Given the description of an element on the screen output the (x, y) to click on. 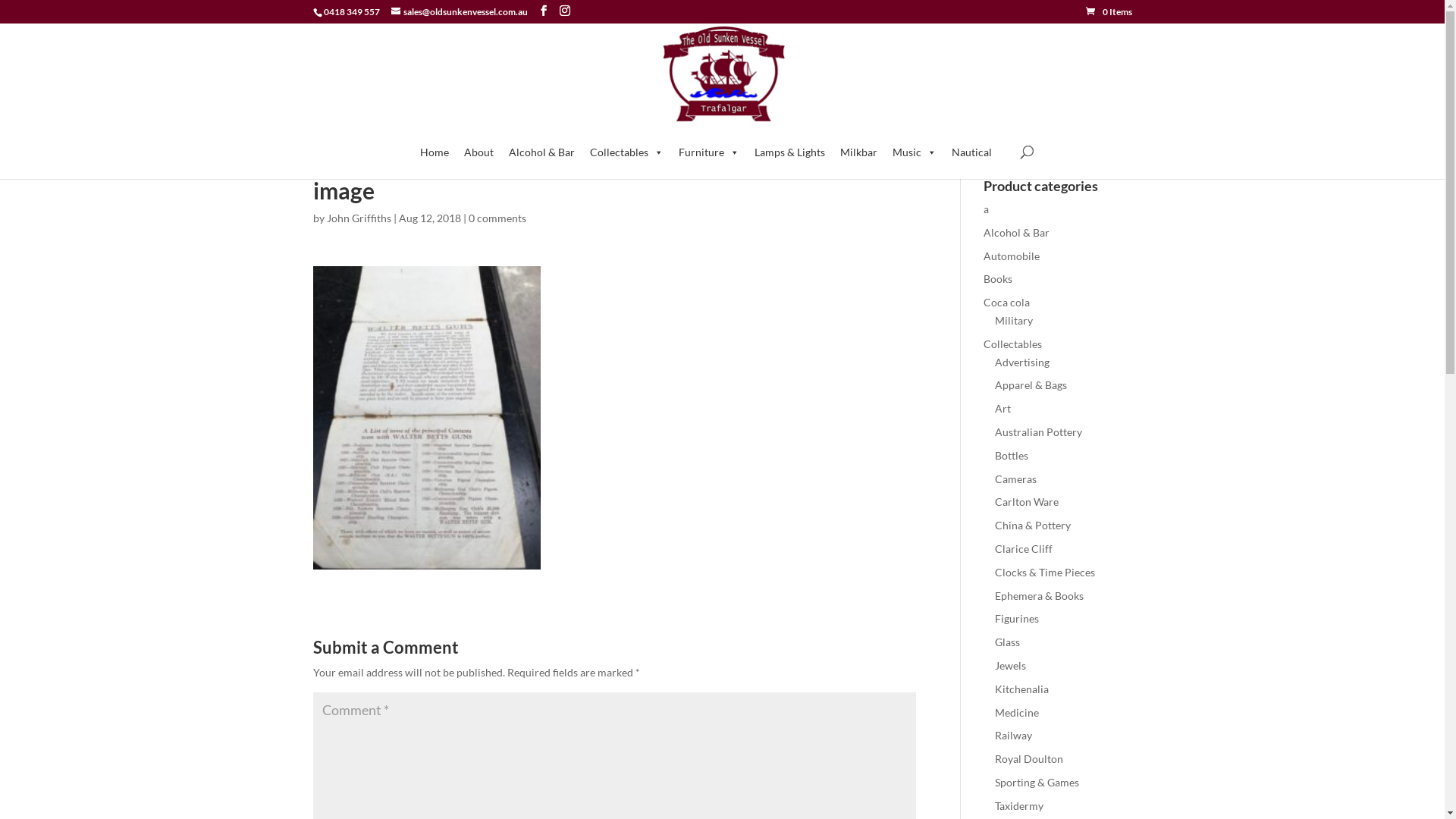
Military Element type: text (1013, 319)
Carlton Ware Element type: text (1026, 501)
Apparel & Bags Element type: text (1030, 384)
Collectables Element type: text (1012, 343)
Automobile Element type: text (1011, 255)
Jewels Element type: text (1010, 664)
Medicine Element type: text (1016, 712)
Art Element type: text (1002, 407)
Books Element type: text (997, 278)
0 comments Element type: text (497, 217)
Milkbar Element type: text (858, 151)
About Element type: text (478, 151)
Furniture Element type: text (708, 151)
Taxidermy Element type: text (1018, 805)
Coca cola Element type: text (1006, 301)
Home Element type: text (434, 151)
Advertising Element type: text (1021, 361)
Figurines Element type: text (1016, 617)
Alcohol & Bar Element type: text (1016, 231)
sales@oldsunkenvessel.com.au Element type: text (459, 11)
John Griffiths Element type: text (358, 217)
Lamps & Lights Element type: text (789, 151)
Glass Element type: text (1006, 641)
Royal Doulton Element type: text (1028, 758)
Railway Element type: text (1013, 734)
Alcohol & Bar Element type: text (541, 151)
Nautical Element type: text (971, 151)
Sporting & Games Element type: text (1036, 781)
0 Items Element type: text (1108, 11)
China & Pottery Element type: text (1032, 524)
Collectables Element type: text (626, 151)
Music Element type: text (914, 151)
Cameras Element type: text (1015, 478)
Clarice Cliff Element type: text (1023, 548)
Clocks & Time Pieces Element type: text (1044, 571)
a Element type: text (985, 208)
Bottles Element type: text (1011, 454)
Australian Pottery Element type: text (1038, 431)
Kitchenalia Element type: text (1021, 688)
Ephemera & Books Element type: text (1038, 595)
